Given the description of an element on the screen output the (x, y) to click on. 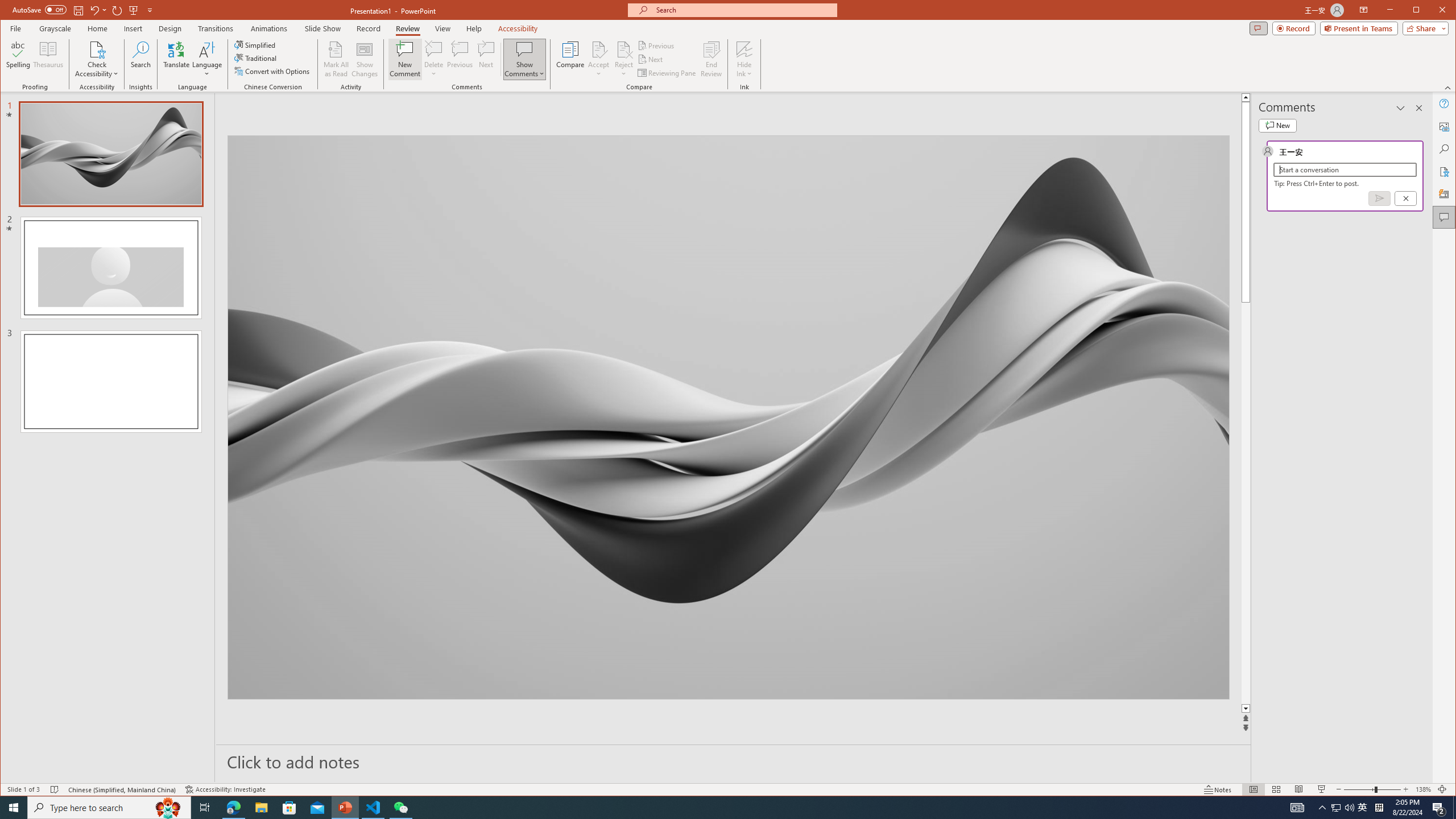
Grayscale (55, 28)
Accept (598, 59)
